Given the description of an element on the screen output the (x, y) to click on. 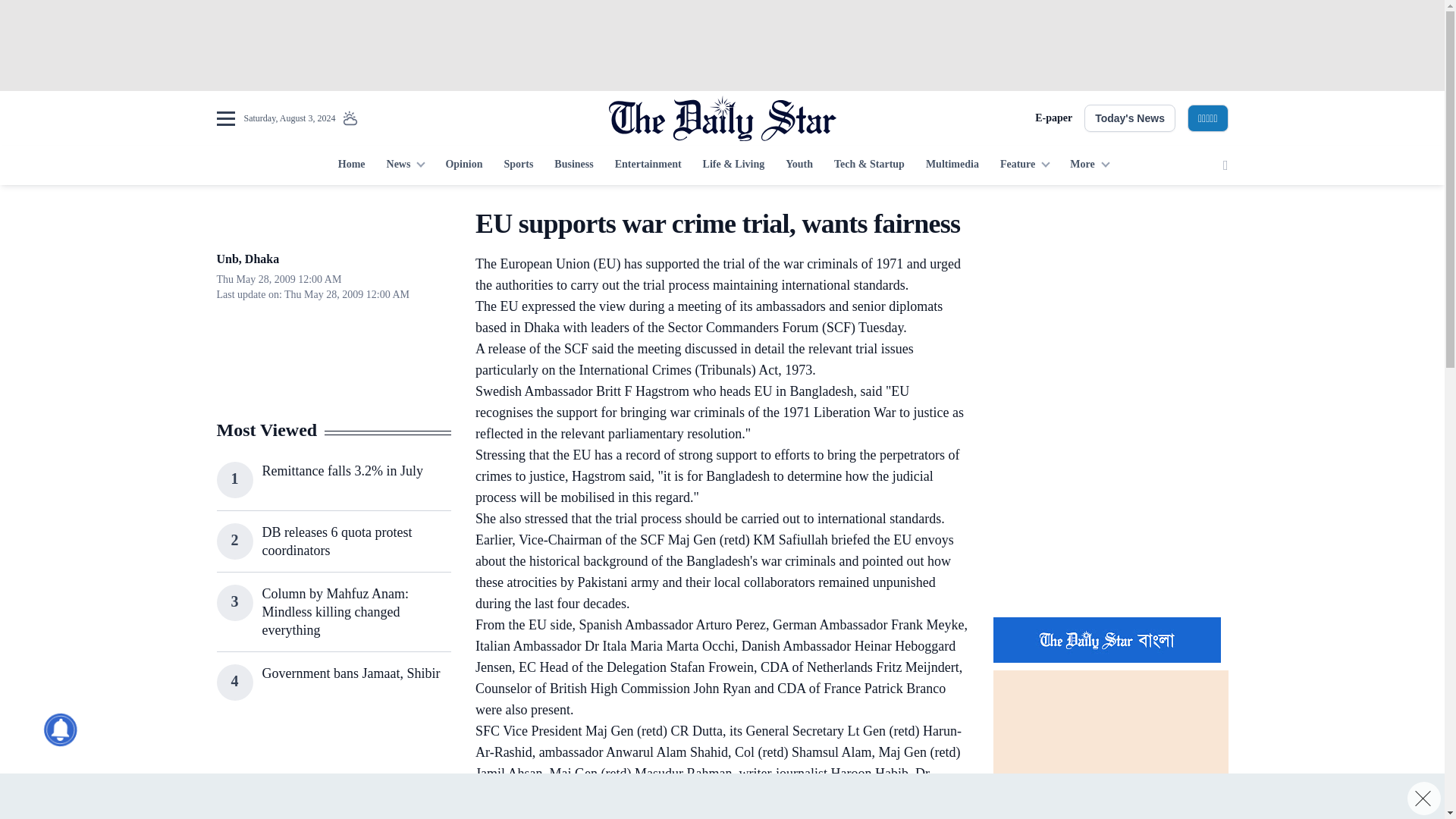
3rd party ad content (721, 45)
3rd party ad content (721, 796)
News (405, 165)
3rd party ad content (332, 775)
Feature (1024, 165)
E-paper (1053, 117)
Multimedia (952, 165)
Youth (799, 165)
Entertainment (647, 165)
Business (573, 165)
Opinion (463, 165)
Today's News (1129, 117)
Sports (518, 165)
3rd party ad content (1110, 302)
